Given the description of an element on the screen output the (x, y) to click on. 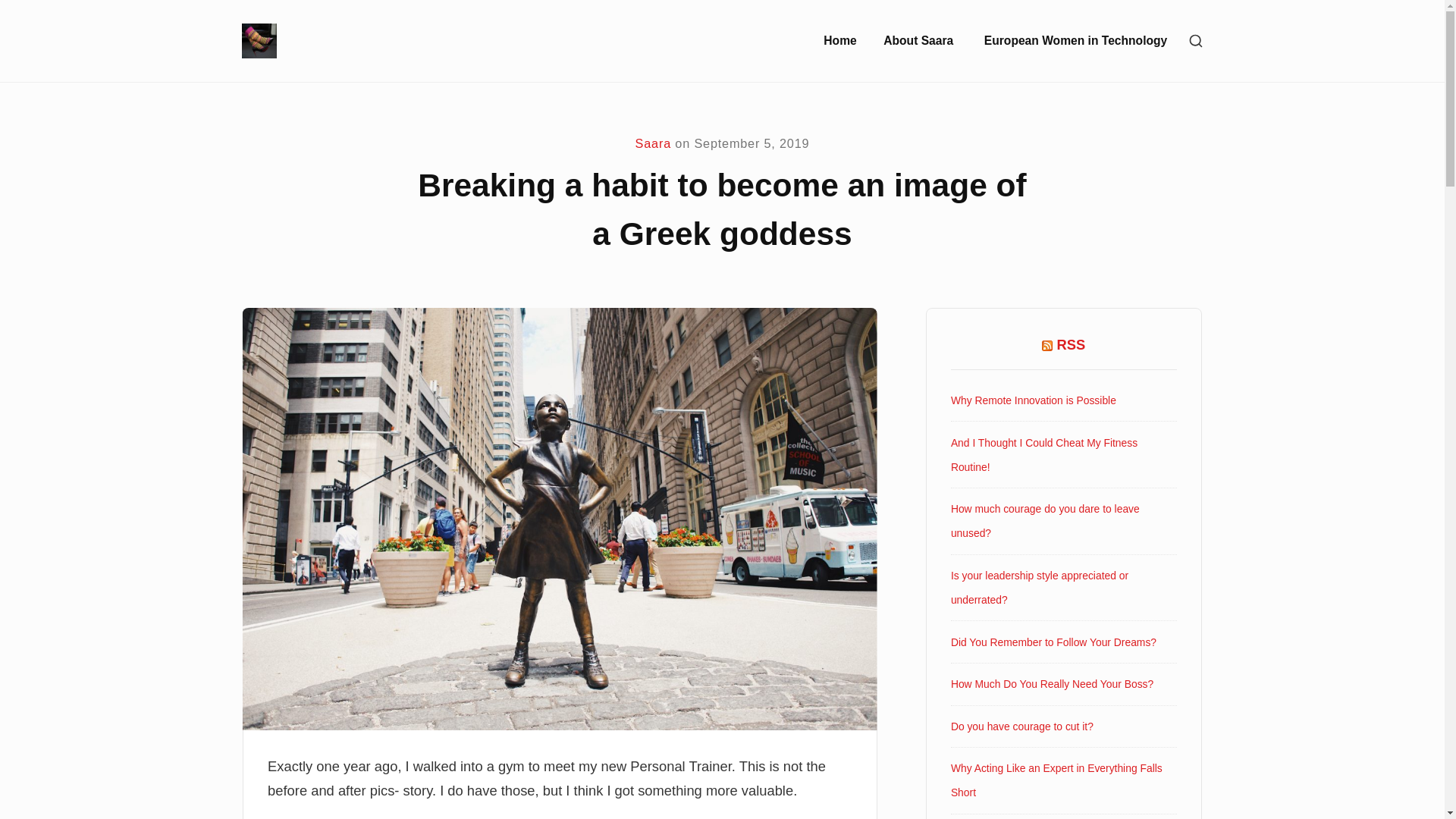
How Much Do You Really Need Your Boss? (1051, 684)
RSS (1071, 344)
Why Remote Innovation is Possible (1033, 399)
Why Acting Like an Expert in Everything Falls Short (1055, 780)
Did You Remember to Follow Your Dreams? (1053, 642)
Is your leadership style appreciated or underrated? (1039, 587)
How much courage do you dare to leave unused? (1045, 520)
And I Thought I Could Cheat My Fitness Routine! (1043, 454)
Do you have courage to cut it? (1021, 726)
